Given the description of an element on the screen output the (x, y) to click on. 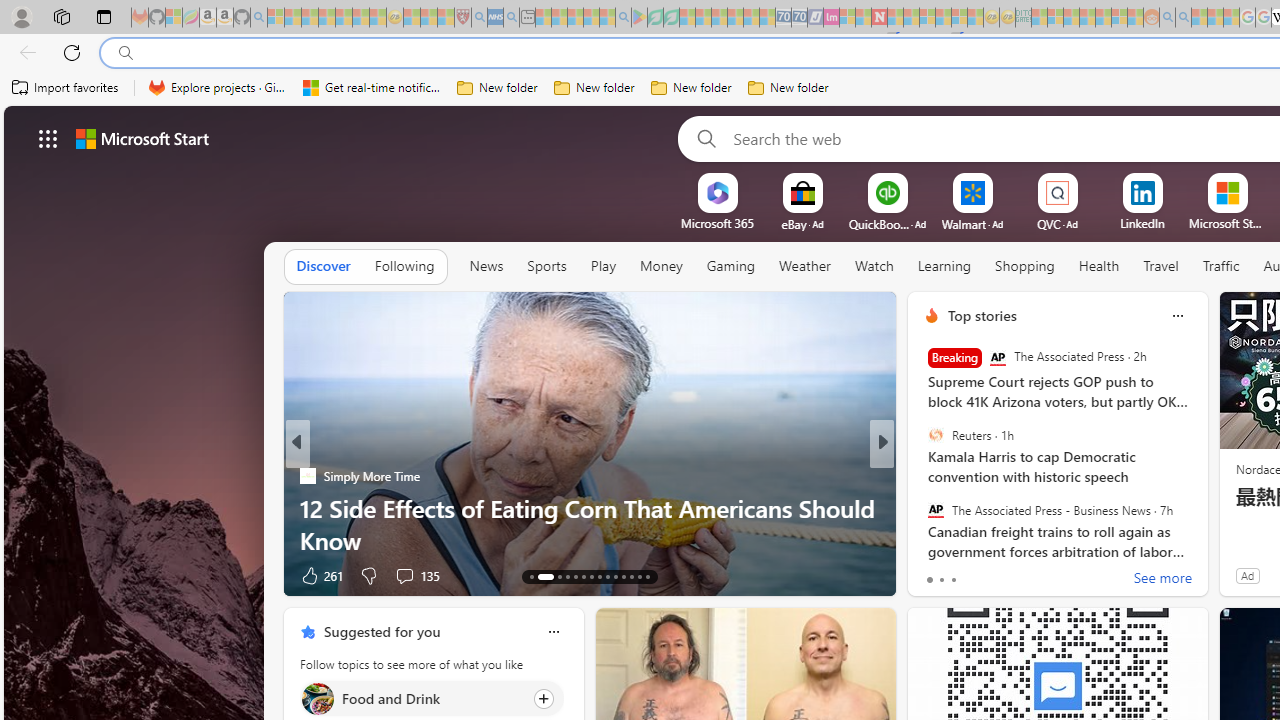
Why Some People Wait To Die Until They're Alone (589, 539)
AutomationID: tab-15 (553, 576)
View comments 81 Comment (1019, 575)
186 Like (936, 574)
View comments 3 Comment (1019, 574)
View comments 13 Comment (1019, 575)
28 Like (934, 574)
View comments 2 Comment (1014, 575)
